Given the description of an element on the screen output the (x, y) to click on. 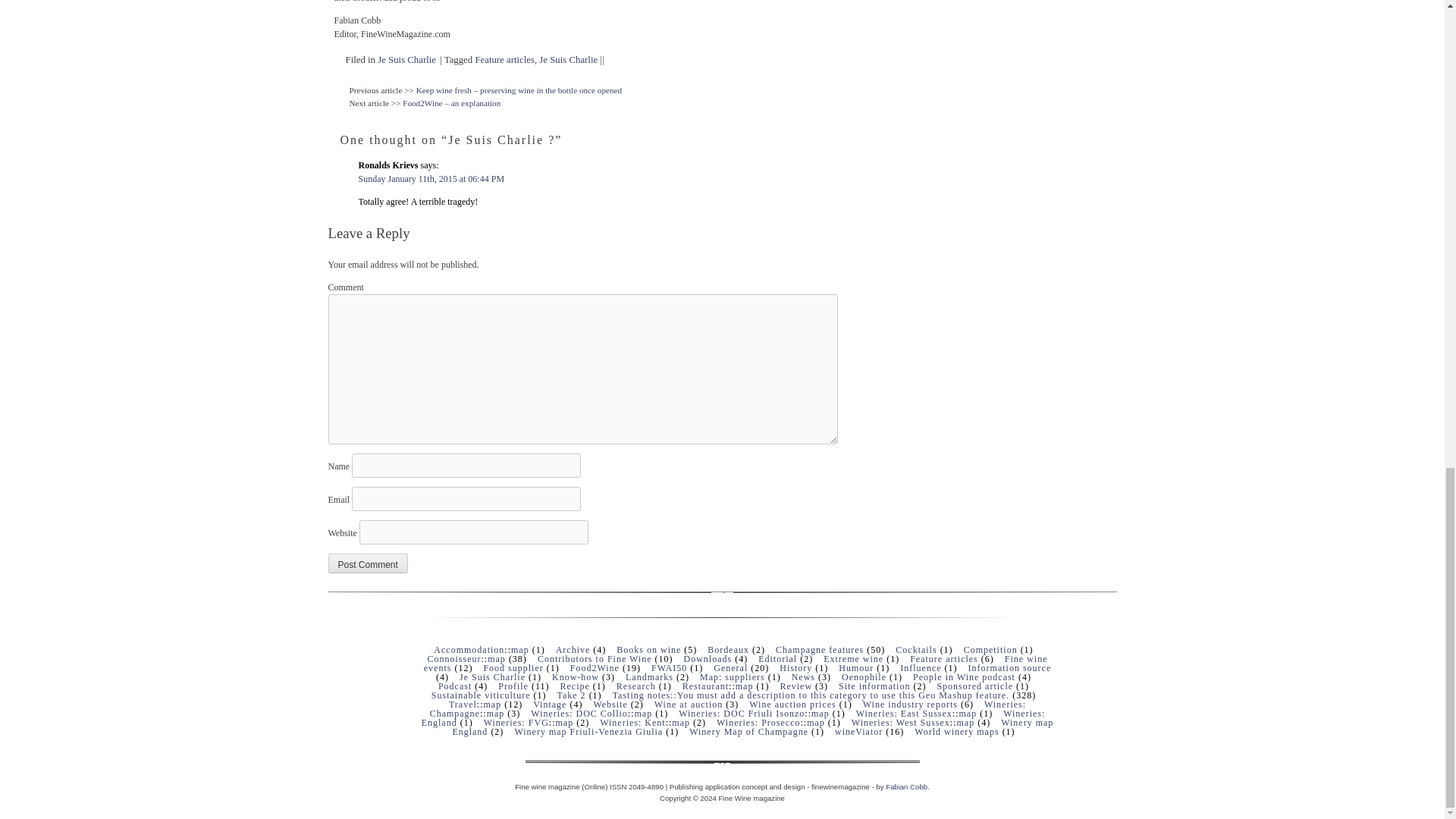
Current auction prices for fine wines (792, 704)
Feature articles (504, 59)
Restaurants. (705, 685)
Opportunities for accommodation. (468, 649)
Wineries located in the region of AOC Champagne (727, 709)
Je Suis Charlie (406, 59)
Articles from original website of www.finewinepress.com (573, 649)
map (520, 649)
Podcasts with interviews from around the world. (963, 676)
map (744, 685)
Trade (910, 704)
map (491, 704)
Post Comment (367, 563)
map (496, 658)
Je Suis Charlie (567, 59)
